Given the description of an element on the screen output the (x, y) to click on. 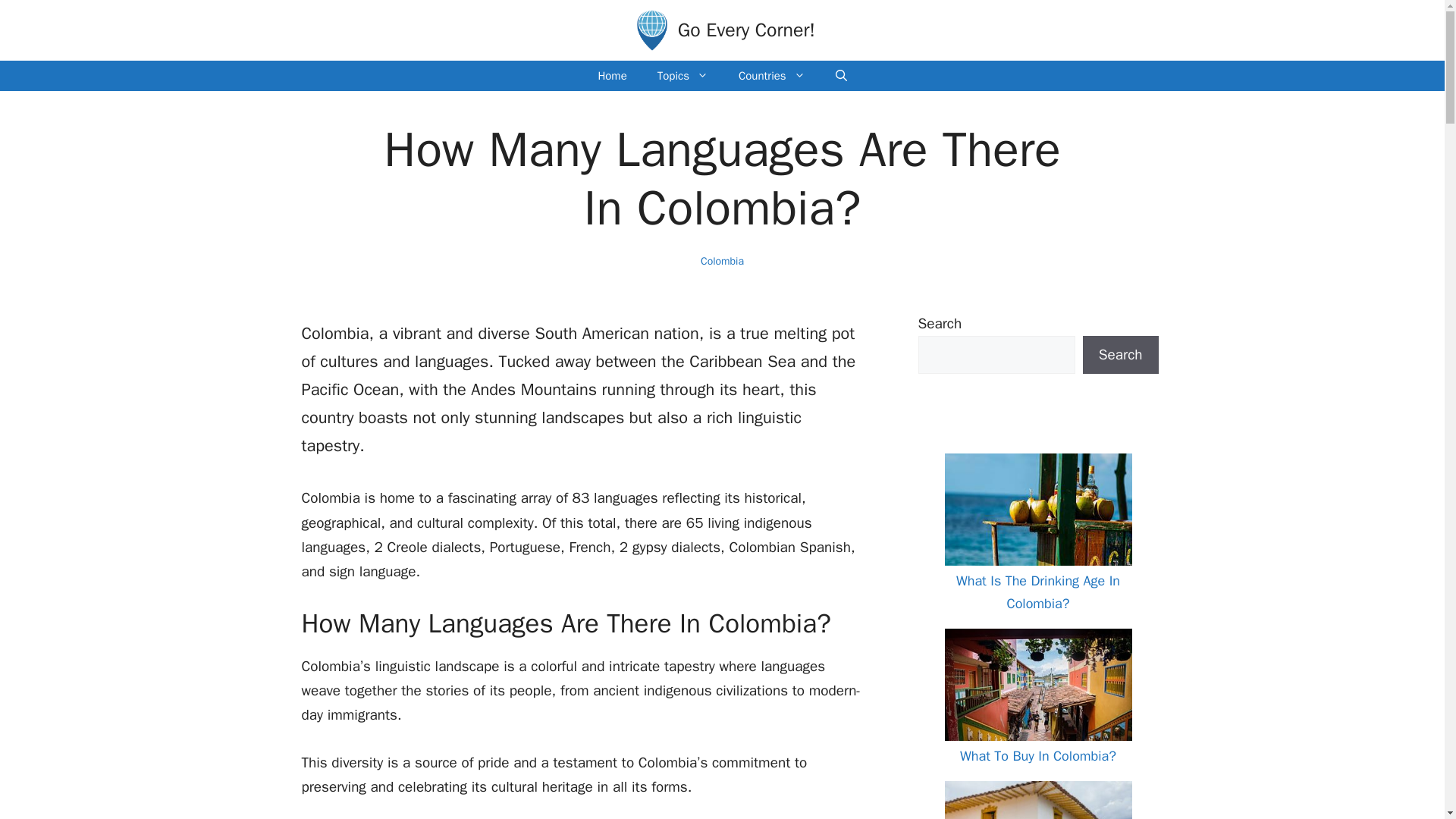
Topics (682, 75)
Colombia (722, 260)
Countries (772, 75)
Go Every Corner! (746, 29)
Home (612, 75)
